Given the description of an element on the screen output the (x, y) to click on. 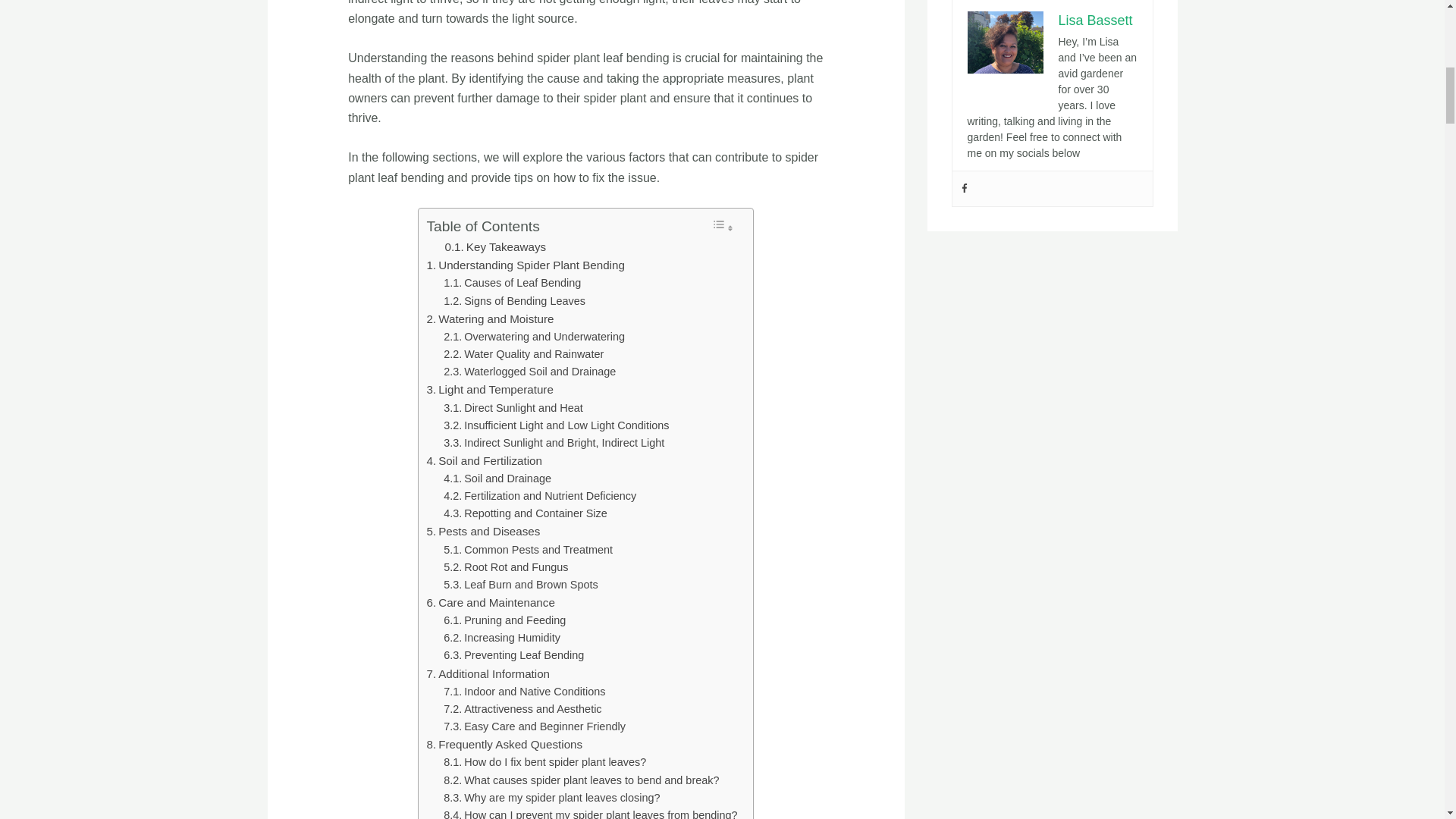
Causes of Leaf Bending (512, 282)
Waterlogged Soil and Drainage (529, 371)
Signs of Bending Leaves (514, 301)
Direct Sunlight and Heat (513, 407)
Overwatering and Underwatering (534, 336)
Water Quality and Rainwater (524, 354)
Signs of Bending Leaves (514, 301)
Waterlogged Soil and Drainage (529, 371)
Watering and Moisture (489, 319)
Water Quality and Rainwater (524, 354)
